Given the description of an element on the screen output the (x, y) to click on. 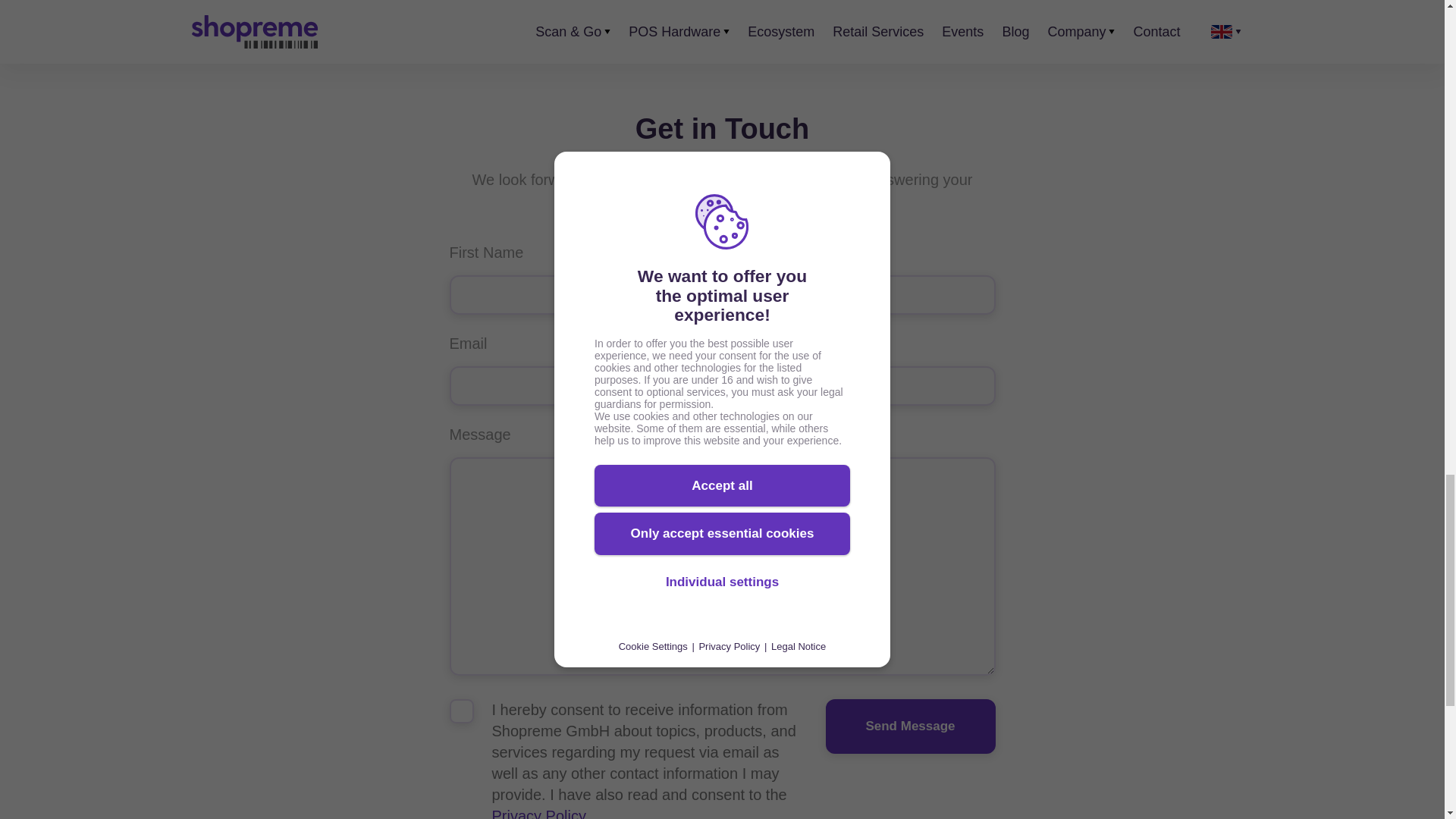
Send Message (909, 726)
Privacy Policy (538, 813)
Send Message (909, 726)
